Given the description of an element on the screen output the (x, y) to click on. 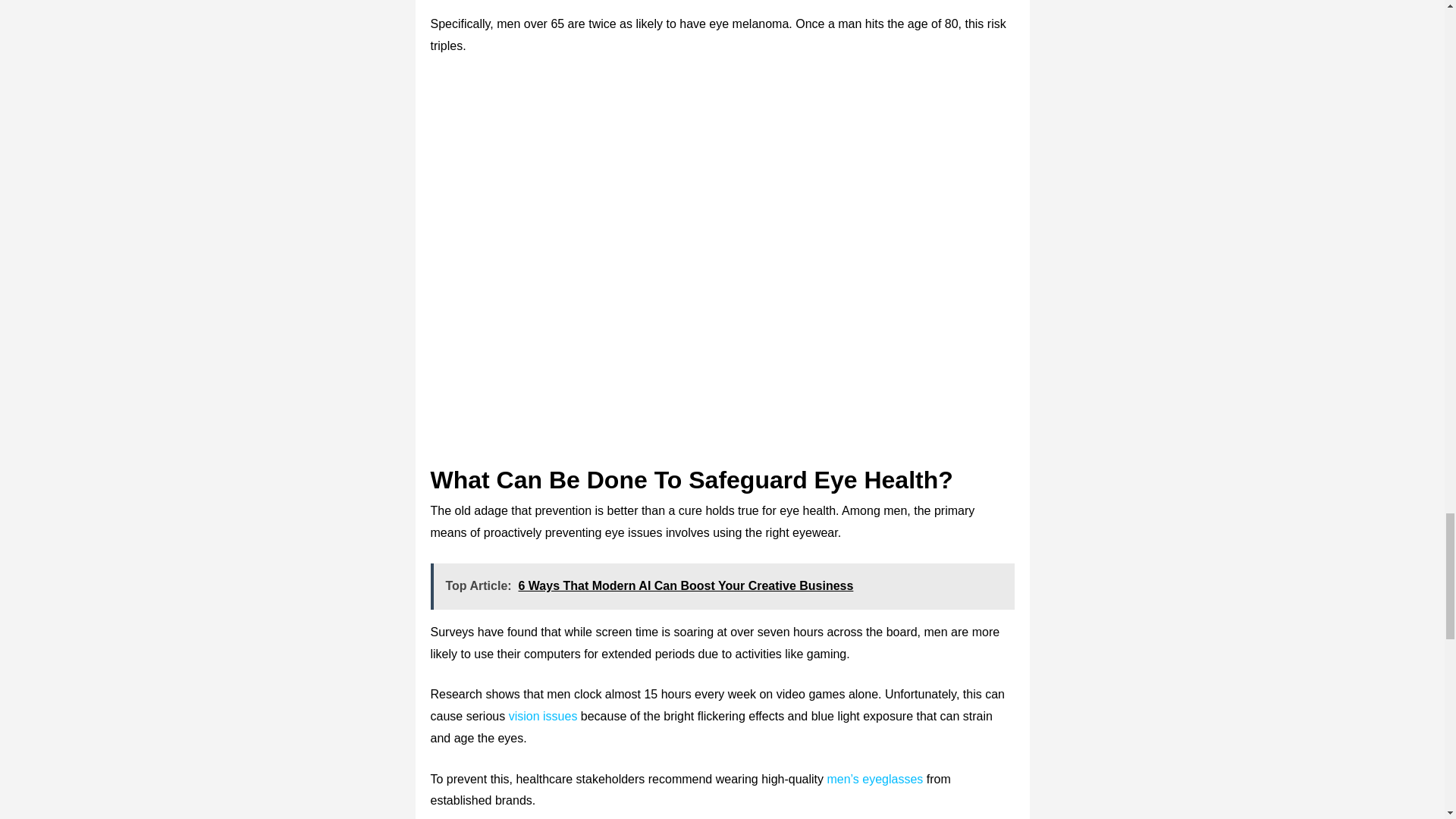
vision issues (543, 716)
